Given the description of an element on the screen output the (x, y) to click on. 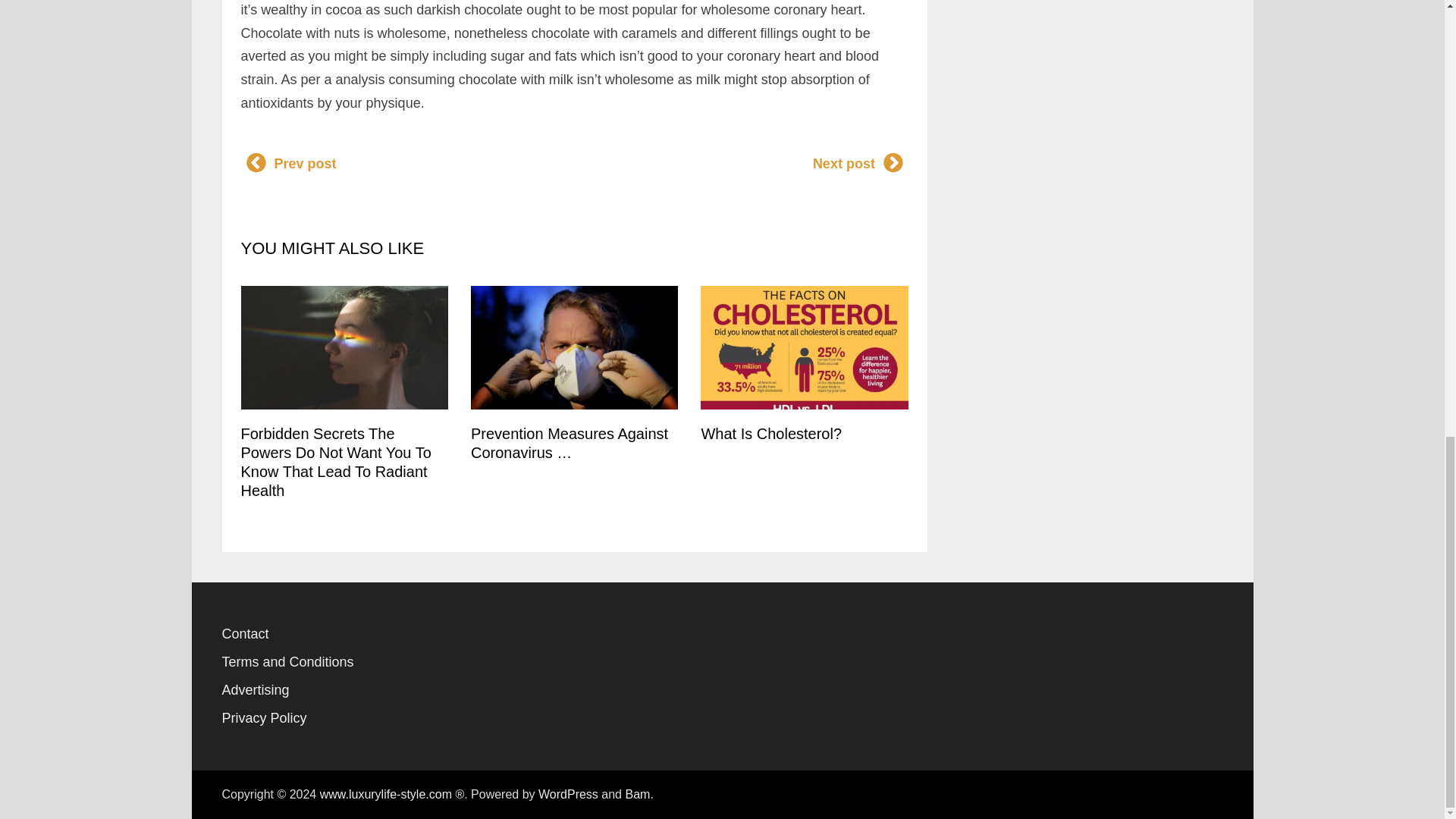
Next post (858, 163)
What Is Cholesterol? (770, 433)
Terms and Conditions (287, 661)
Contact (244, 633)
What Is Cholesterol? (770, 433)
Prev post (290, 163)
